Given the description of an element on the screen output the (x, y) to click on. 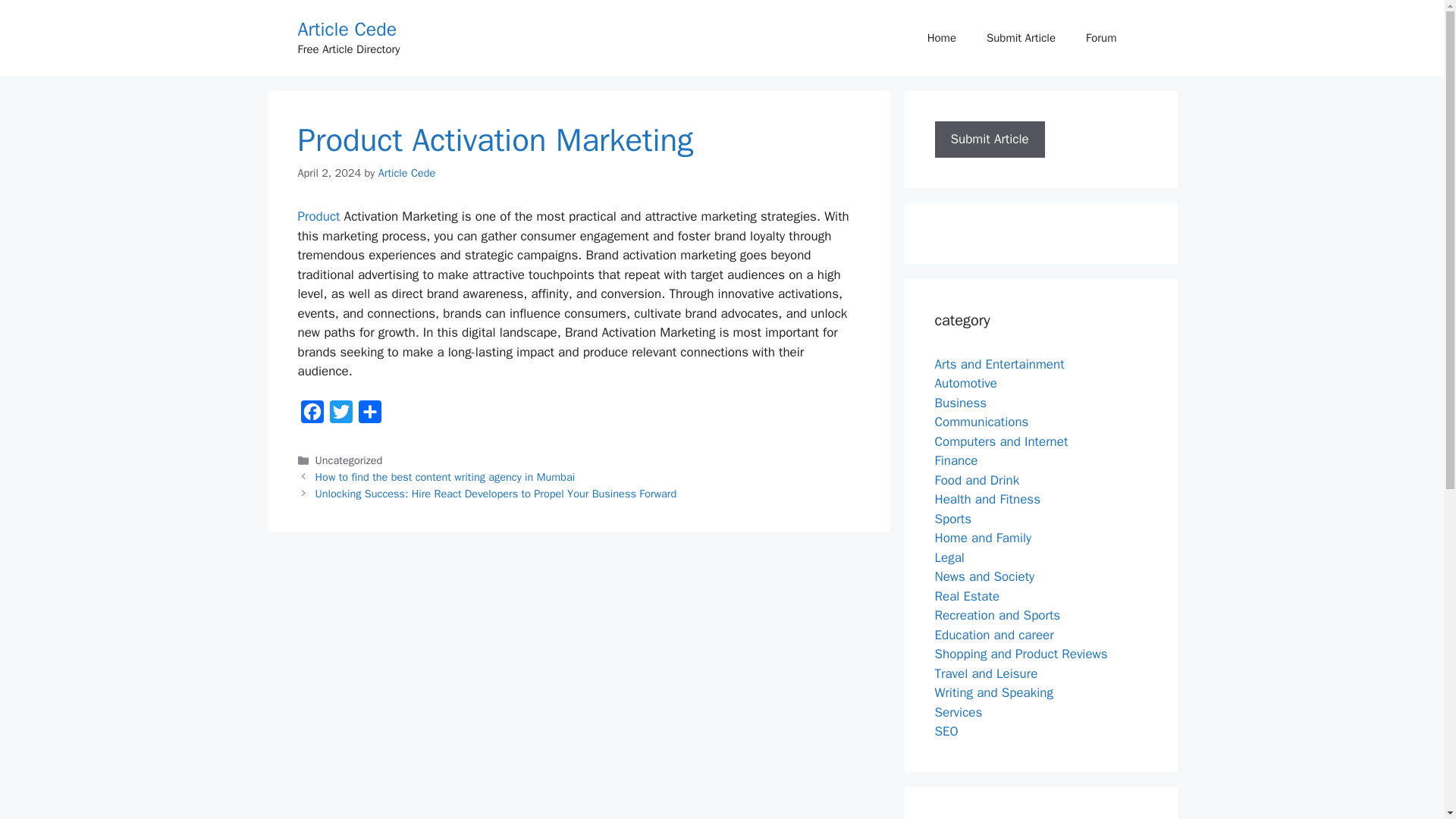
Product (318, 216)
Food and Drink (976, 479)
Real Estate (966, 596)
Communications (980, 421)
Home (941, 37)
Submit Article (1020, 37)
Services (957, 711)
Submit Article (988, 139)
Writing and Speaking (993, 692)
Automotive (965, 383)
News and Society (983, 576)
Home and Family (982, 537)
SEO (946, 731)
Facebook (311, 415)
Legal (948, 556)
